Given the description of an element on the screen output the (x, y) to click on. 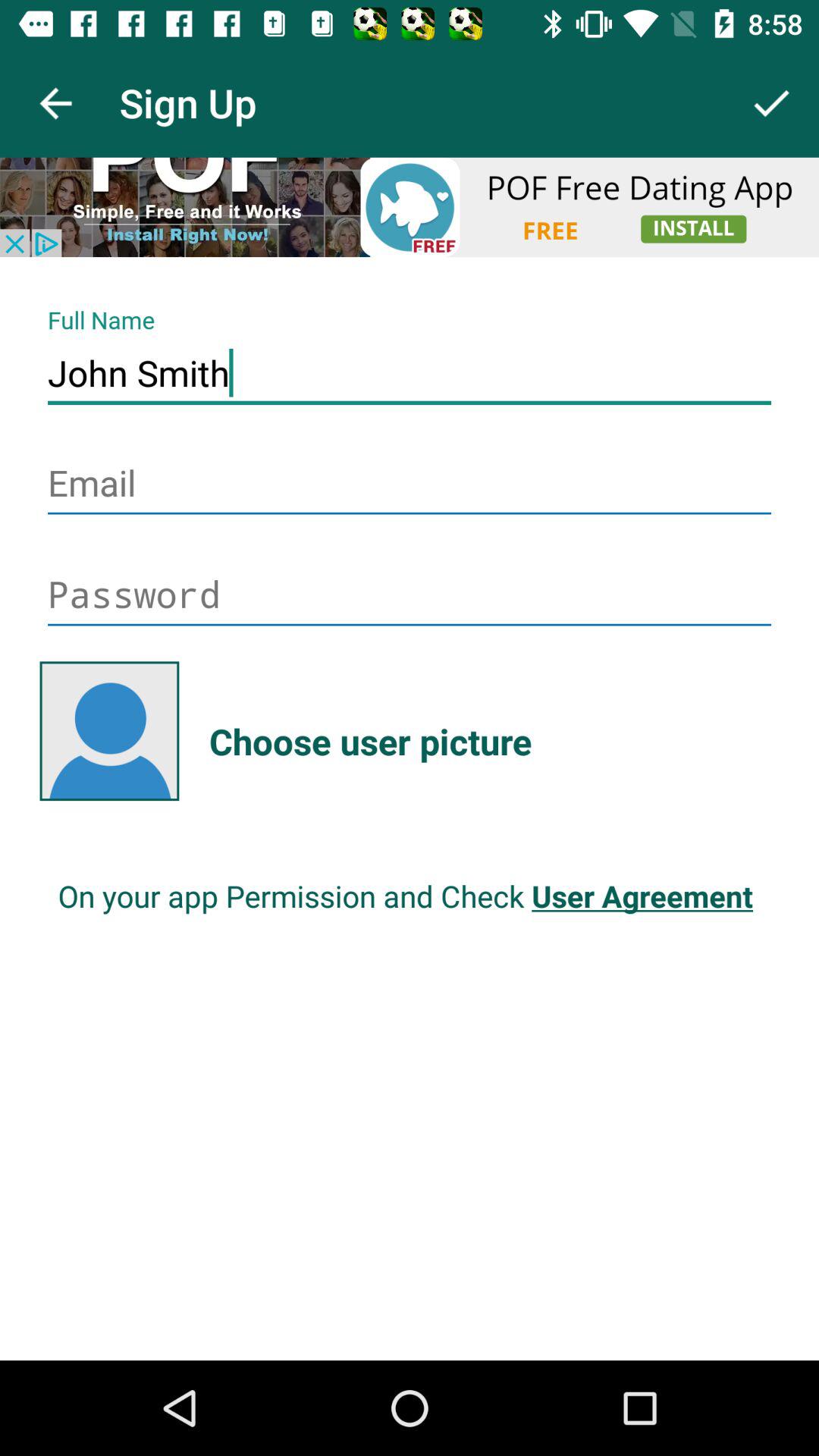
open advertisement (409, 207)
